Given the description of an element on the screen output the (x, y) to click on. 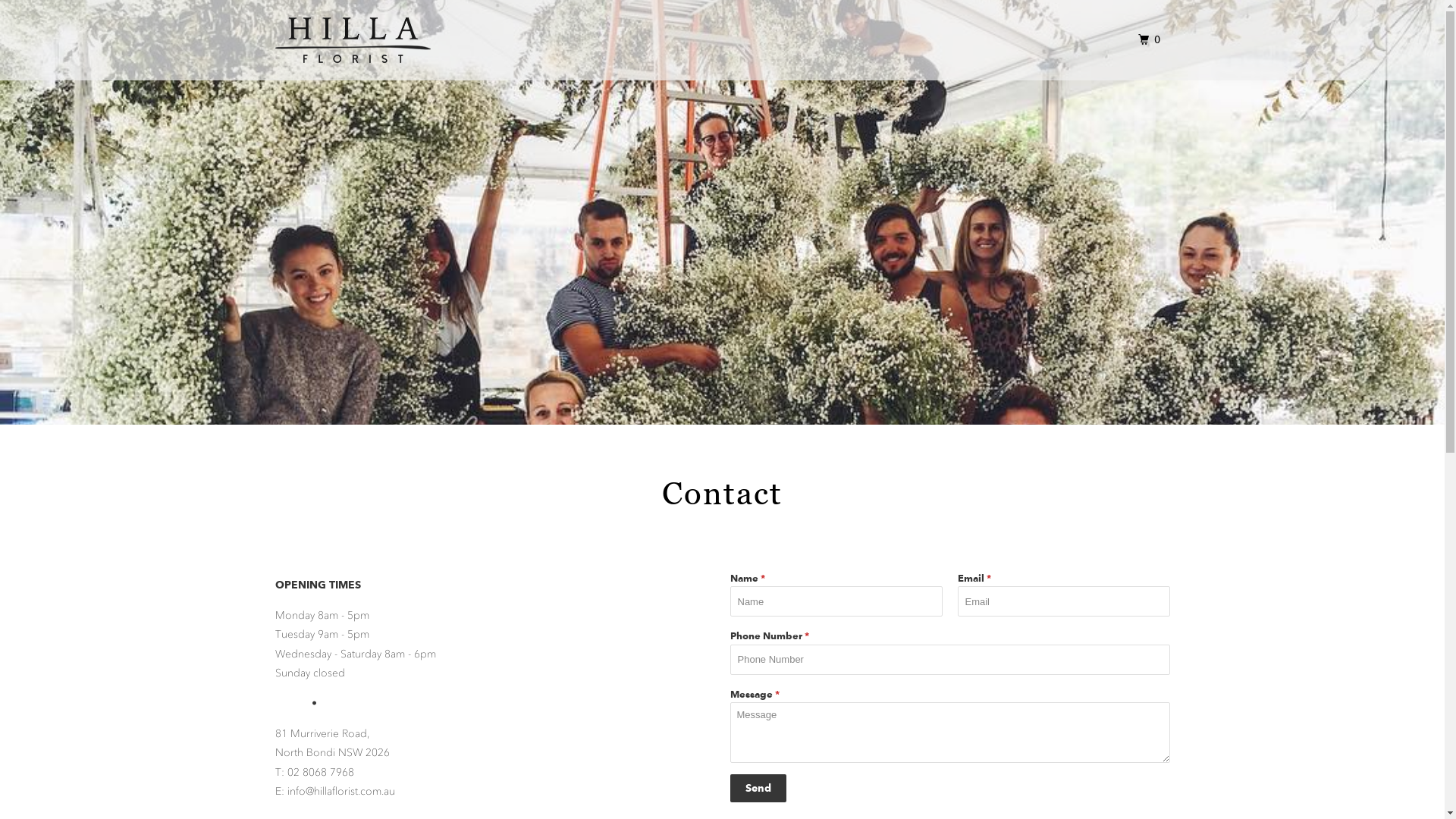
Send Element type: text (757, 788)
0 Element type: text (1151, 39)
Hilla Florist Element type: hover (351, 40)
